Given the description of an element on the screen output the (x, y) to click on. 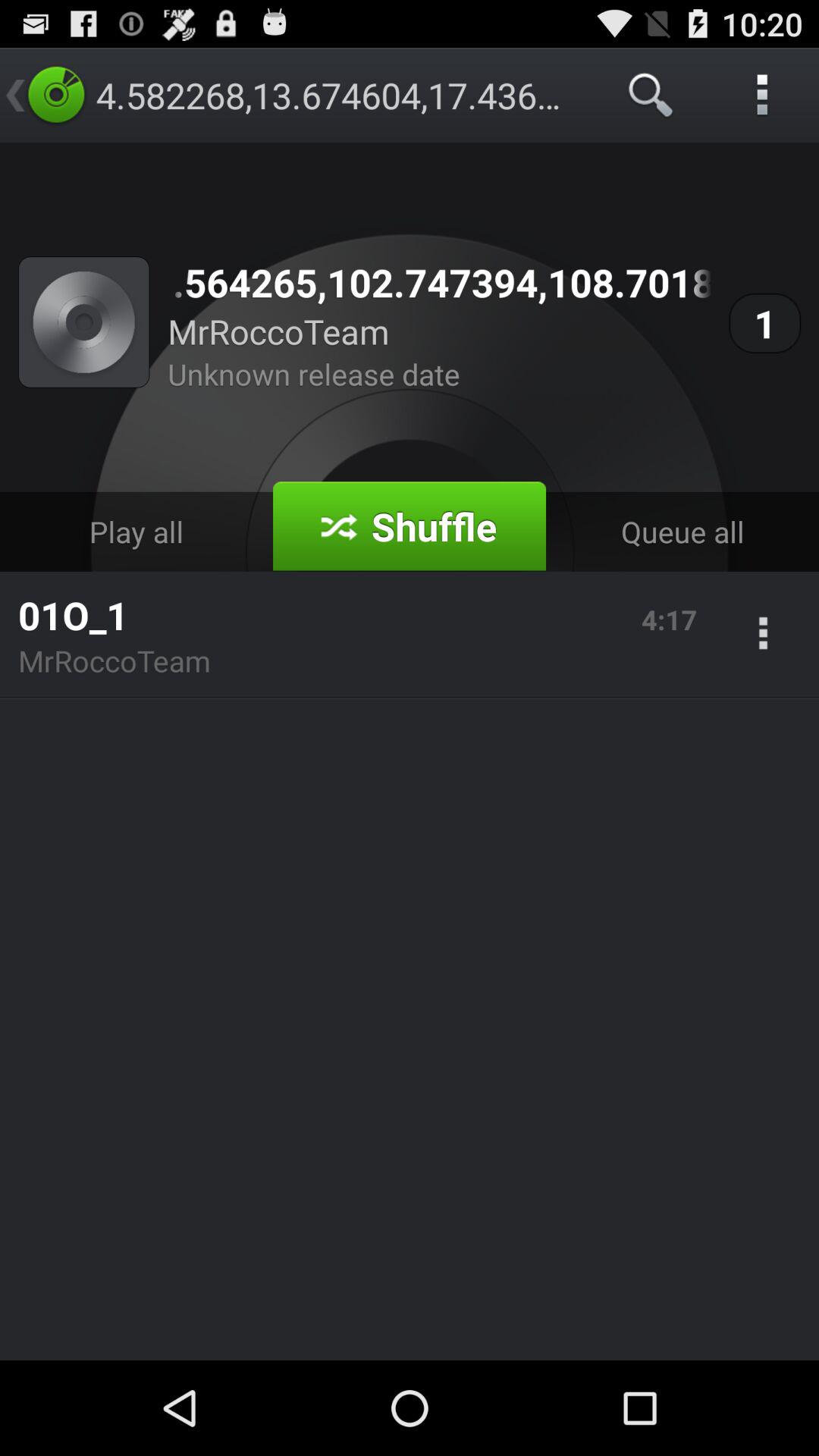
press play all item (136, 531)
